Given the description of an element on the screen output the (x, y) to click on. 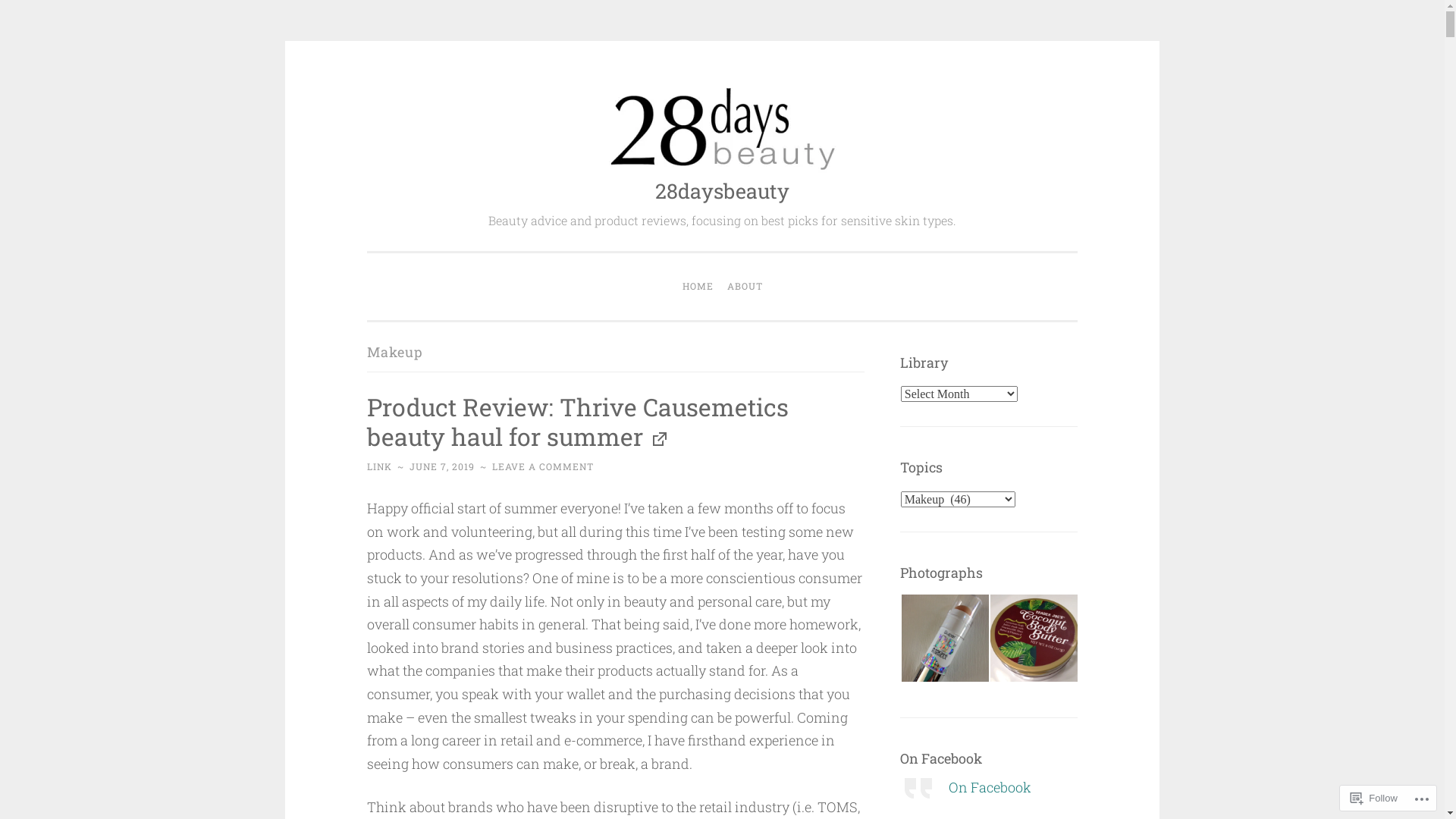
Trader Joe's Coconut Body Butter Element type: hover (1033, 637)
ABOUT Element type: text (744, 286)
JUNE 7, 2019 Element type: text (441, 466)
LEAVE A COMMENT Element type: text (542, 466)
Follow Element type: text (1373, 797)
PH Super BB Cream 2 Element type: hover (944, 637)
On Facebook Element type: text (989, 787)
HOME Element type: text (696, 286)
28daysbeauty Element type: text (722, 190)
Product Review: Thrive Causemetics beauty haul for summer Element type: text (577, 421)
LINK Element type: text (379, 466)
On Facebook Element type: text (941, 758)
